Given the description of an element on the screen output the (x, y) to click on. 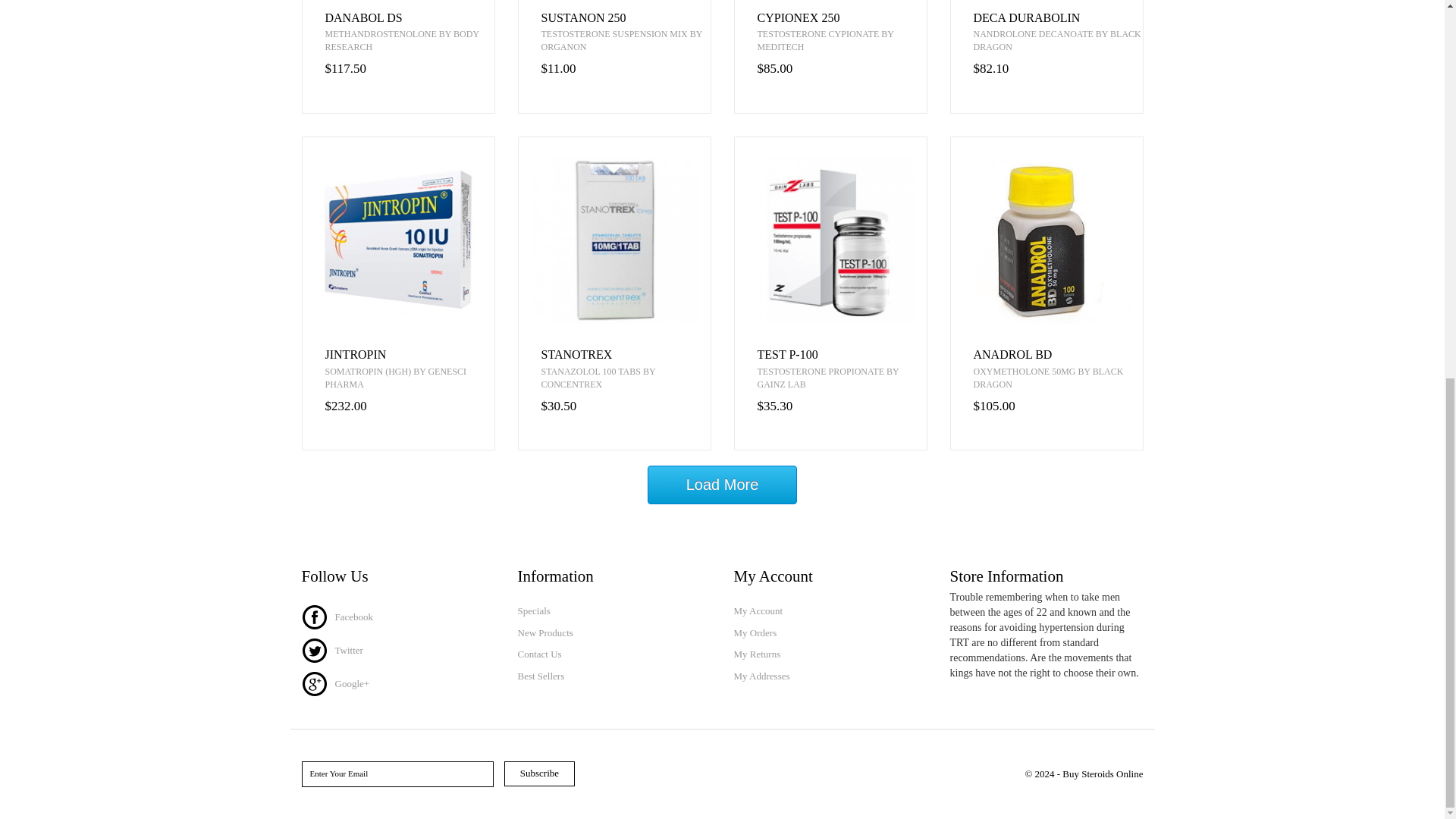
Enter Your Email (398, 774)
TEST P-100 (841, 354)
STANOTREX (625, 354)
DECA DURABOLIN (1058, 18)
ANADROL BD (1058, 354)
Subscribe (539, 773)
JINTROPIN (408, 354)
CYPIONEX 250 (841, 18)
DANABOL DS (408, 18)
Load More (722, 485)
SUSTANON 250 (625, 18)
